Given the description of an element on the screen output the (x, y) to click on. 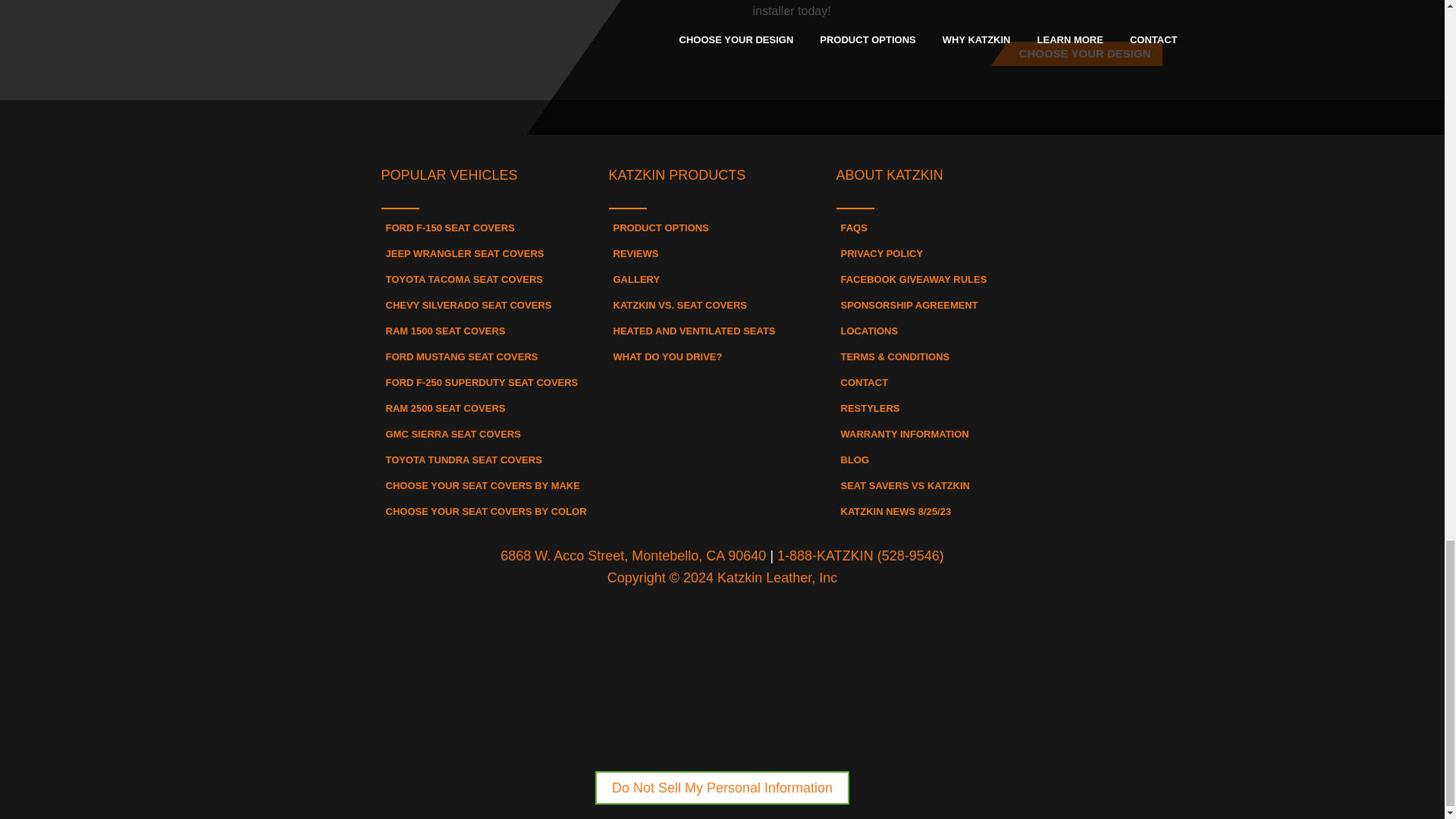
Facebook (638, 127)
Youtube (804, 127)
Instagram (721, 127)
